Given the description of an element on the screen output the (x, y) to click on. 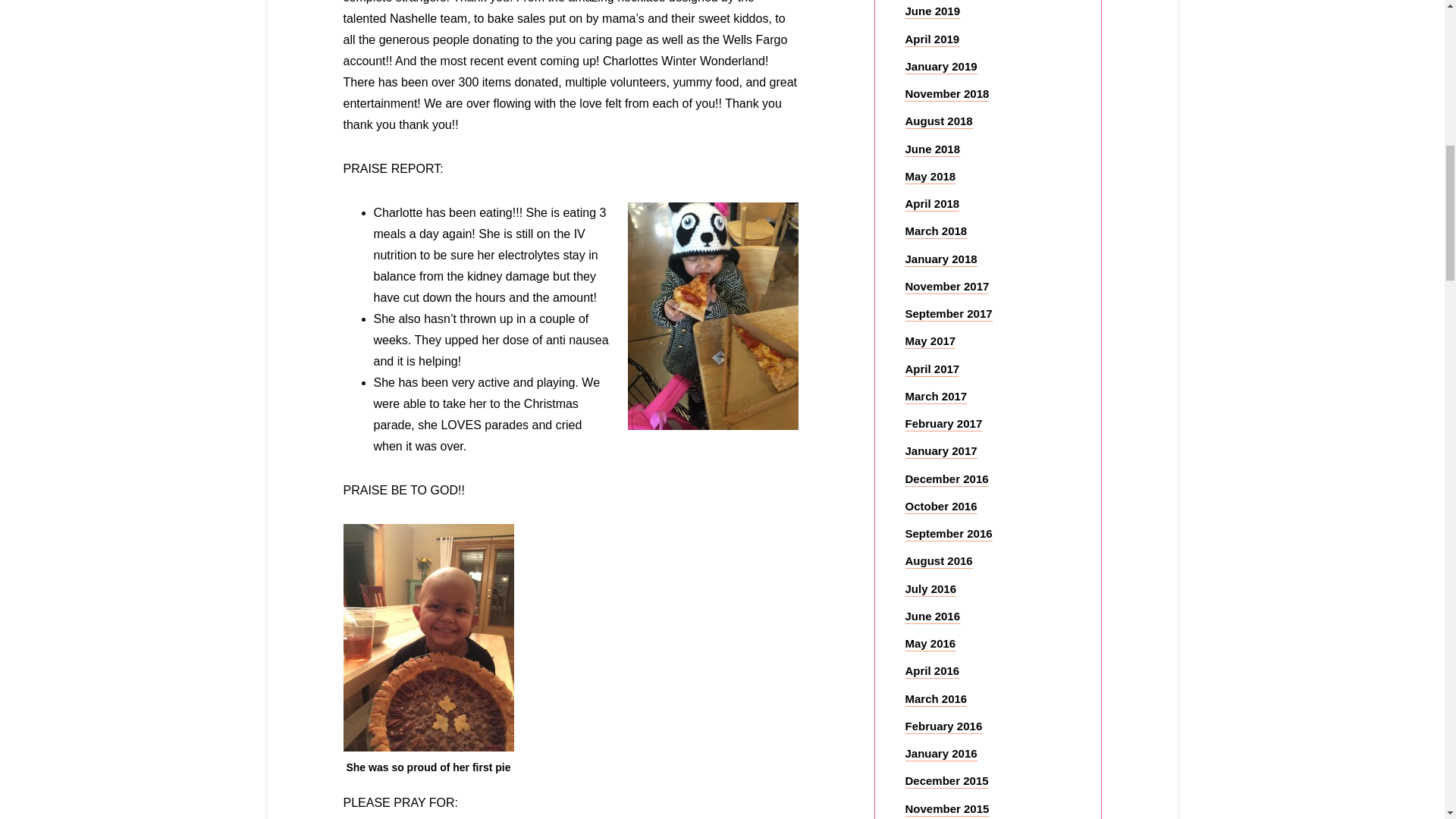
April 2018 (932, 204)
September 2017 (948, 314)
June 2018 (932, 149)
March 2018 (936, 231)
November 2017 (947, 287)
November 2018 (947, 93)
January 2019 (940, 66)
May 2018 (930, 176)
April 2019 (932, 38)
June 2019 (932, 11)
